Given the description of an element on the screen output the (x, y) to click on. 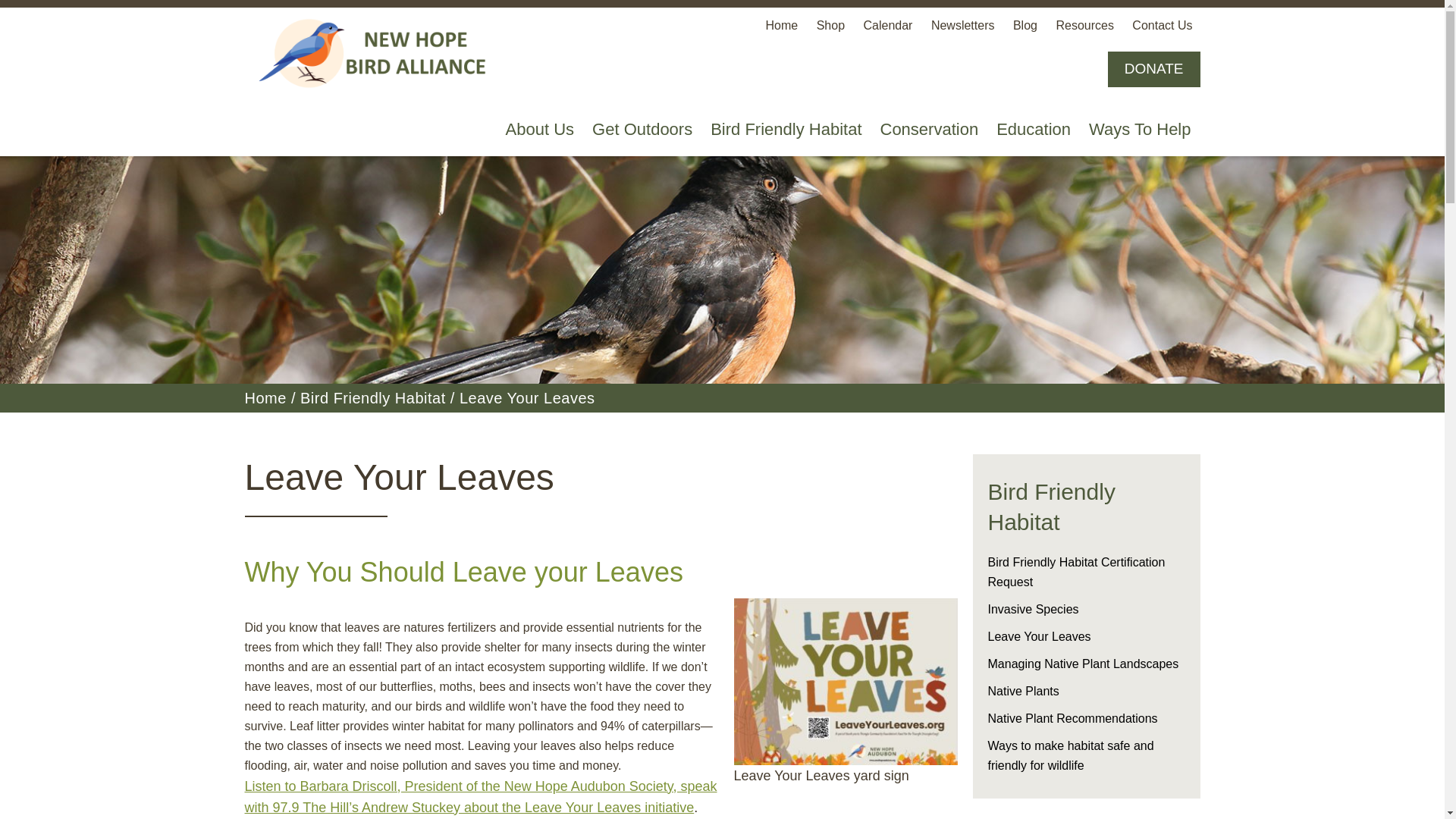
About Us (539, 129)
Contact Us (1162, 24)
Bird Friendly Habitat (786, 129)
Blog (1024, 24)
Resources (1084, 24)
New Hope Audubon Society (376, 55)
Education (1033, 129)
DONATE (1153, 68)
New Hope Audubon Society (376, 55)
Get Outdoors (642, 129)
Calendar (887, 24)
Ways To Help (1139, 129)
Newsletters (962, 24)
Conservation (928, 129)
Home (781, 24)
